Given the description of an element on the screen output the (x, y) to click on. 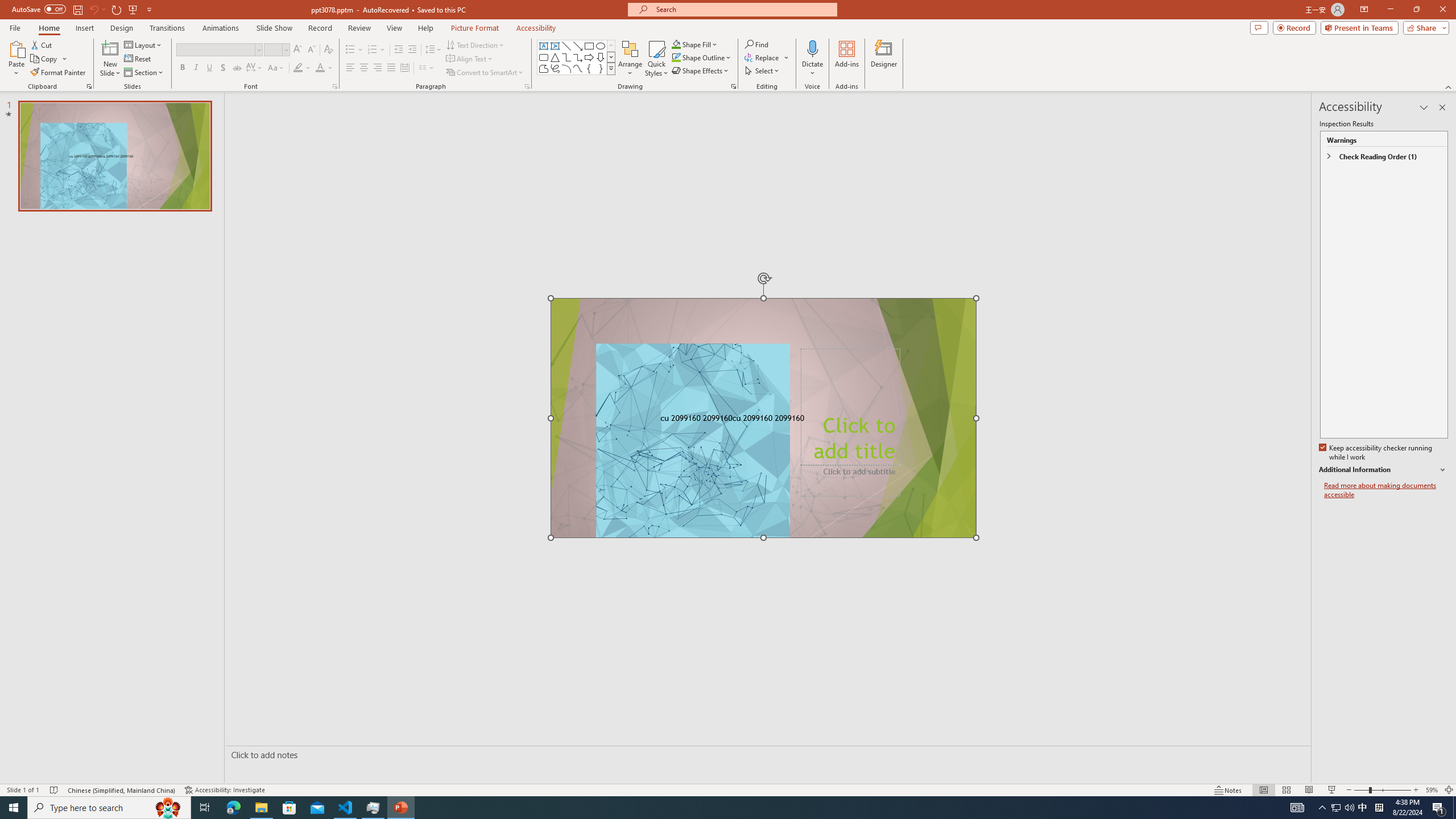
Shape Fill Dark Green, Accent 2 (675, 44)
Picture Format (475, 28)
Read more about making documents accessible (1385, 489)
